Given the description of an element on the screen output the (x, y) to click on. 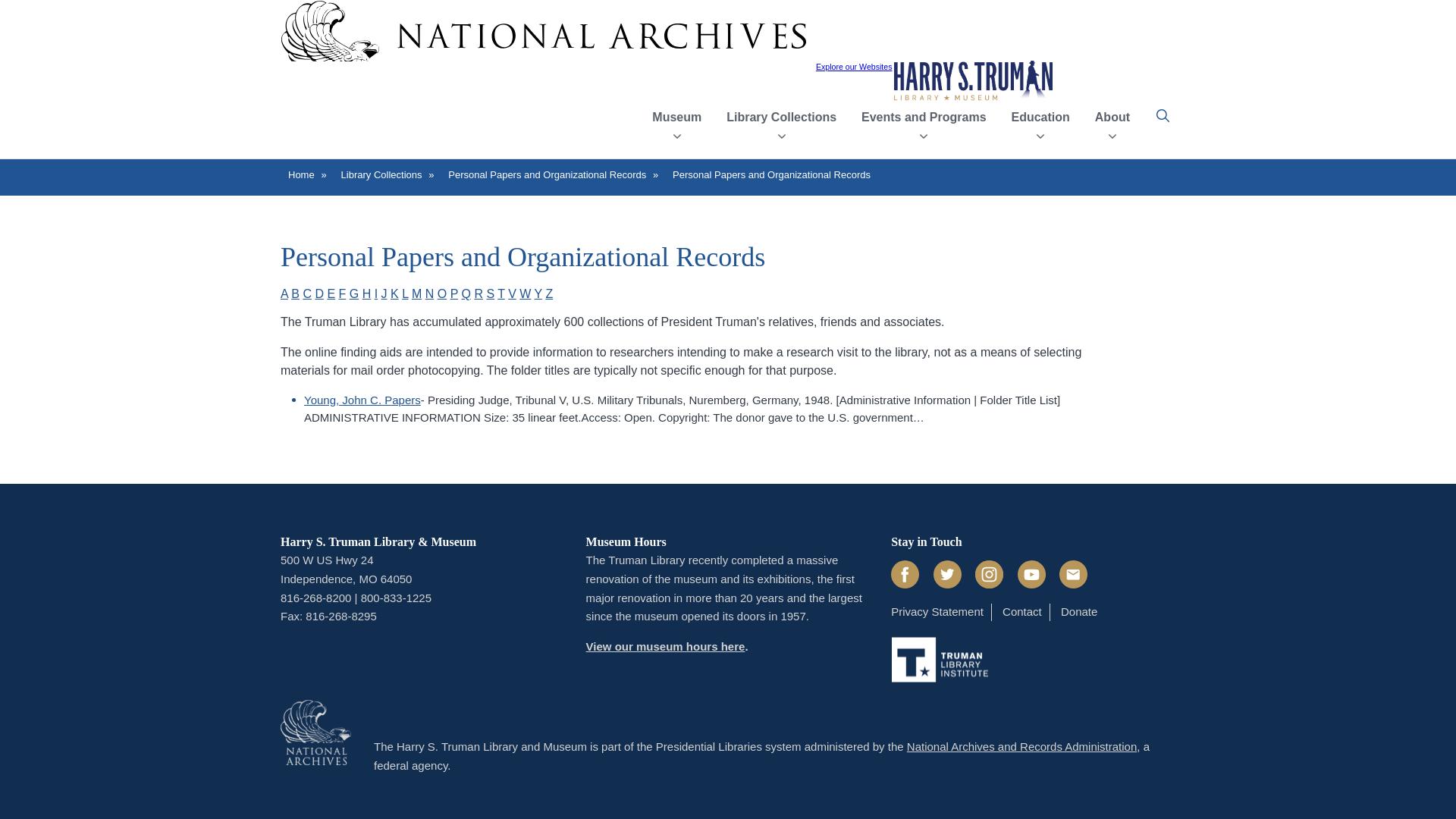
Library Collections (780, 120)
Museum (676, 120)
Events and Programs (923, 120)
Education (1039, 120)
Home (972, 80)
